Given the description of an element on the screen output the (x, y) to click on. 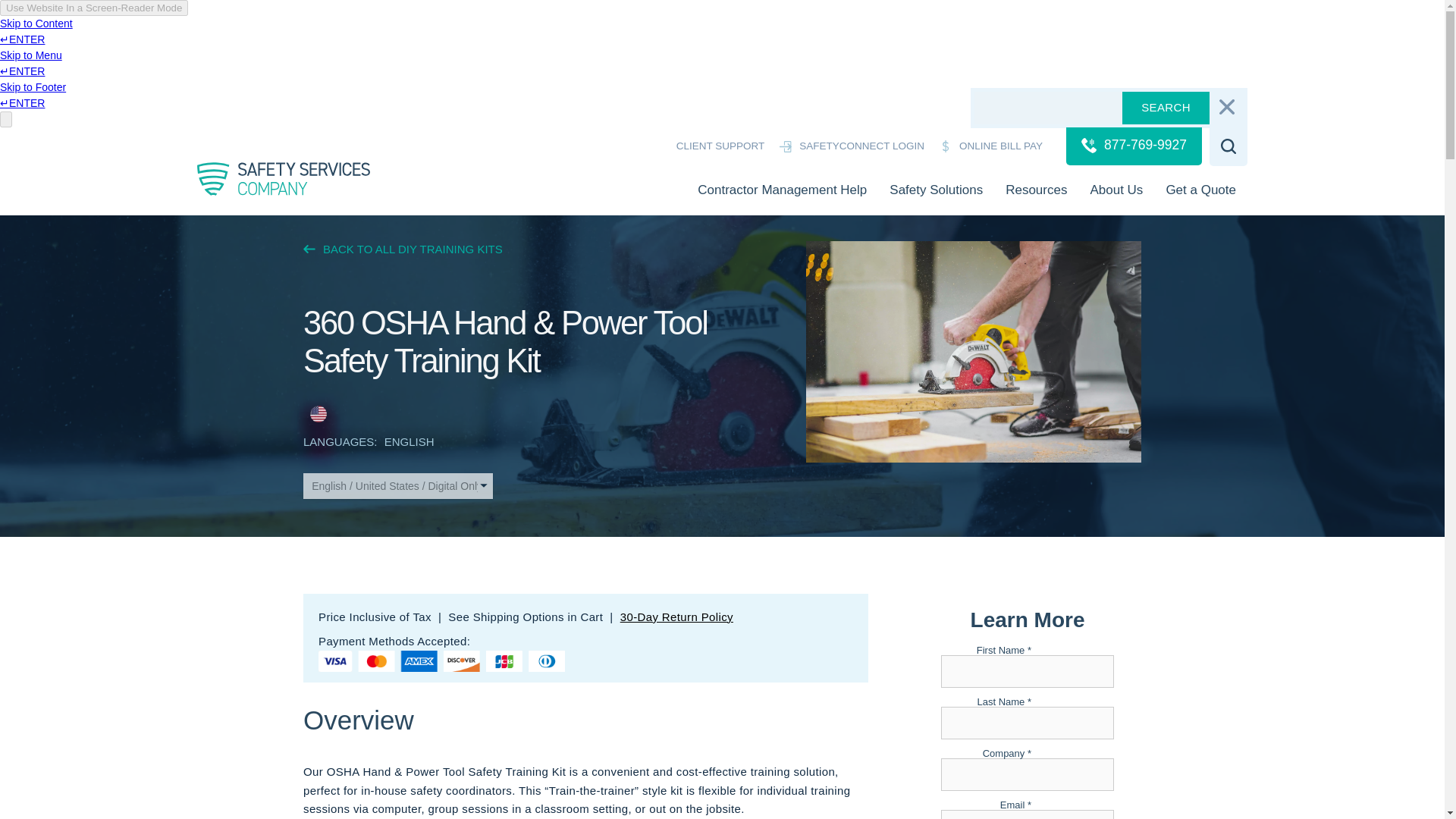
Search (1165, 107)
CLIENT SUPPORT (711, 146)
SAFETYCONNECT LOGIN (851, 146)
Search (1165, 107)
Safety Services Company (287, 176)
Search (1165, 107)
Contractor Management Help (781, 189)
877-769-9927 (1133, 146)
ONLINE BILL PAY (990, 146)
